Given the description of an element on the screen output the (x, y) to click on. 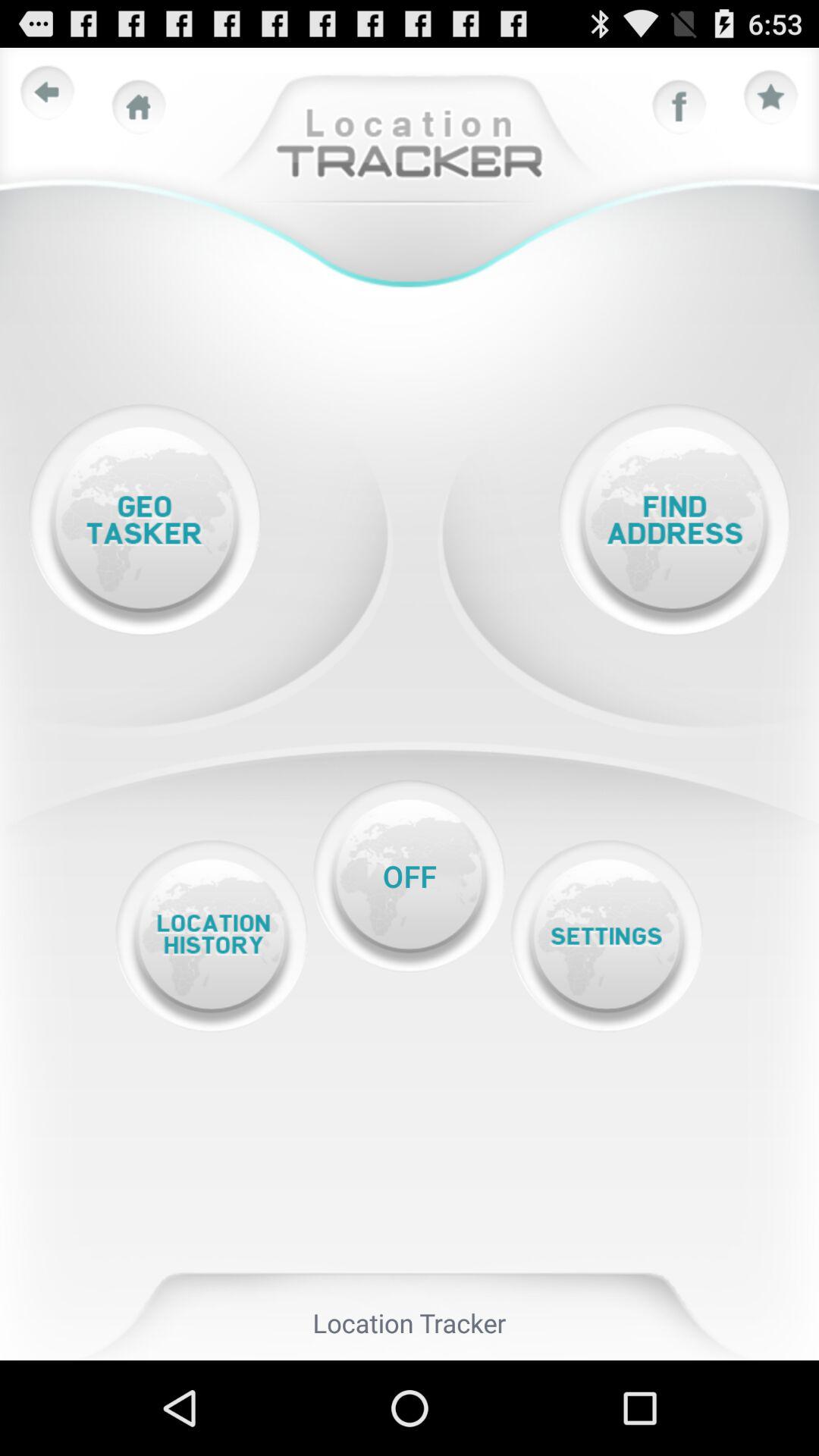
share in facebook (679, 107)
